Given the description of an element on the screen output the (x, y) to click on. 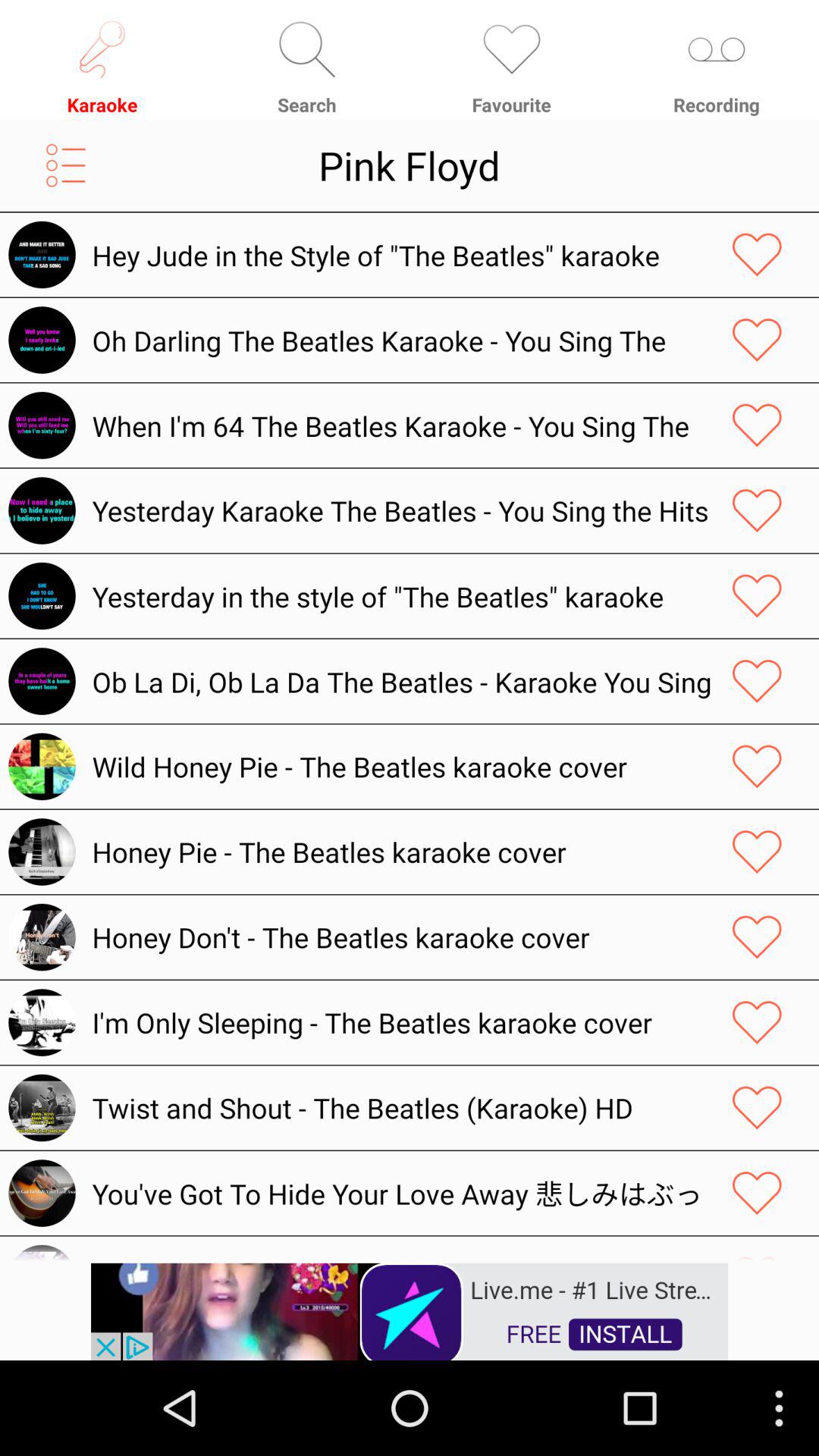
love (756, 766)
